Given the description of an element on the screen output the (x, y) to click on. 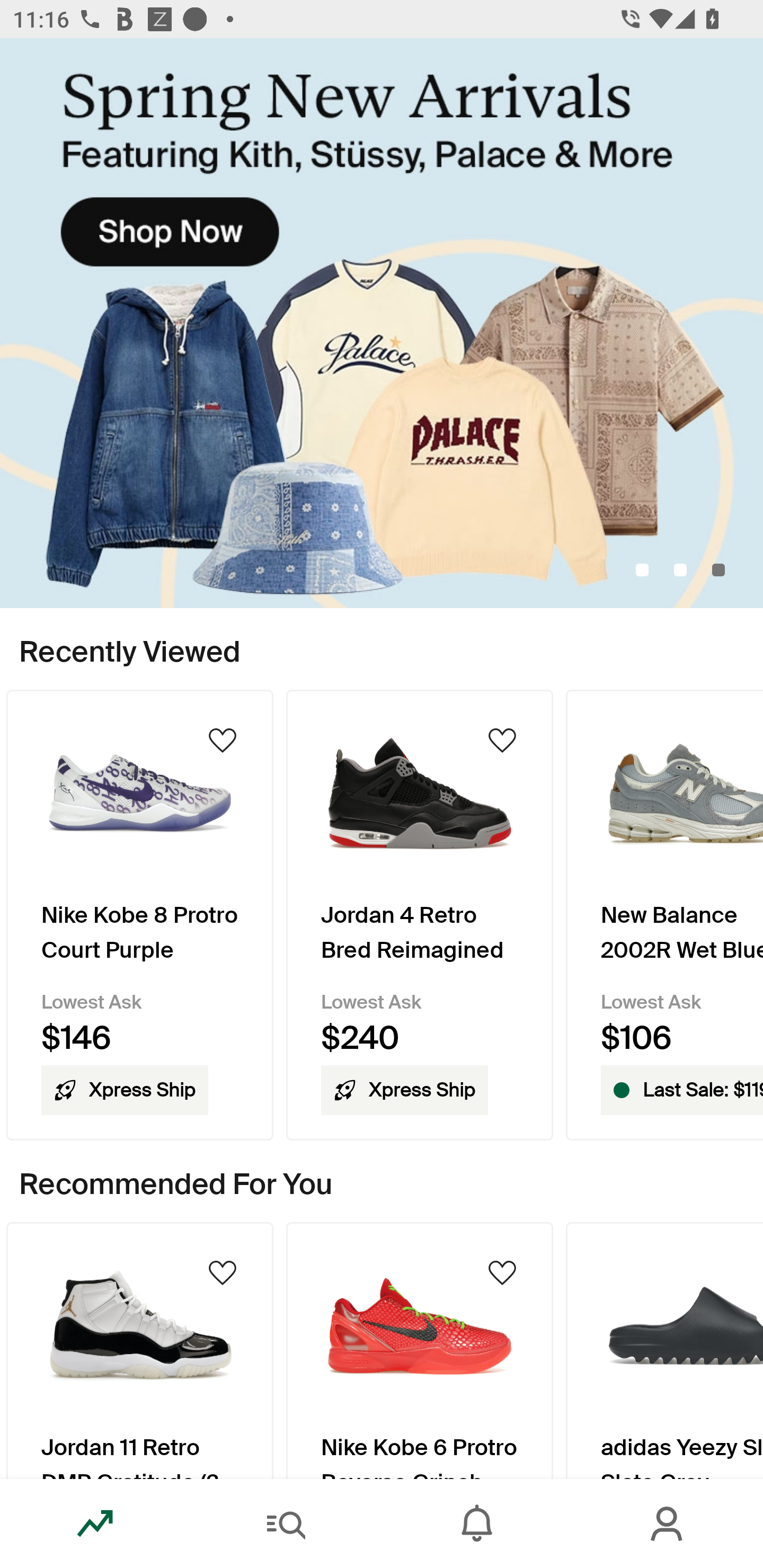
SpringNewArrivals-KithStussy_Primary_Mobile.jpg (381, 322)
Product Image Jordan 11 Retro DMP Gratitude (2023) (139, 1349)
Product Image Nike Kobe 6 Protro Reverse Grinch (419, 1349)
Product Image adidas Yeezy Slide Slate Grey (664, 1349)
Search (285, 1523)
Inbox (476, 1523)
Account (667, 1523)
